Given the description of an element on the screen output the (x, y) to click on. 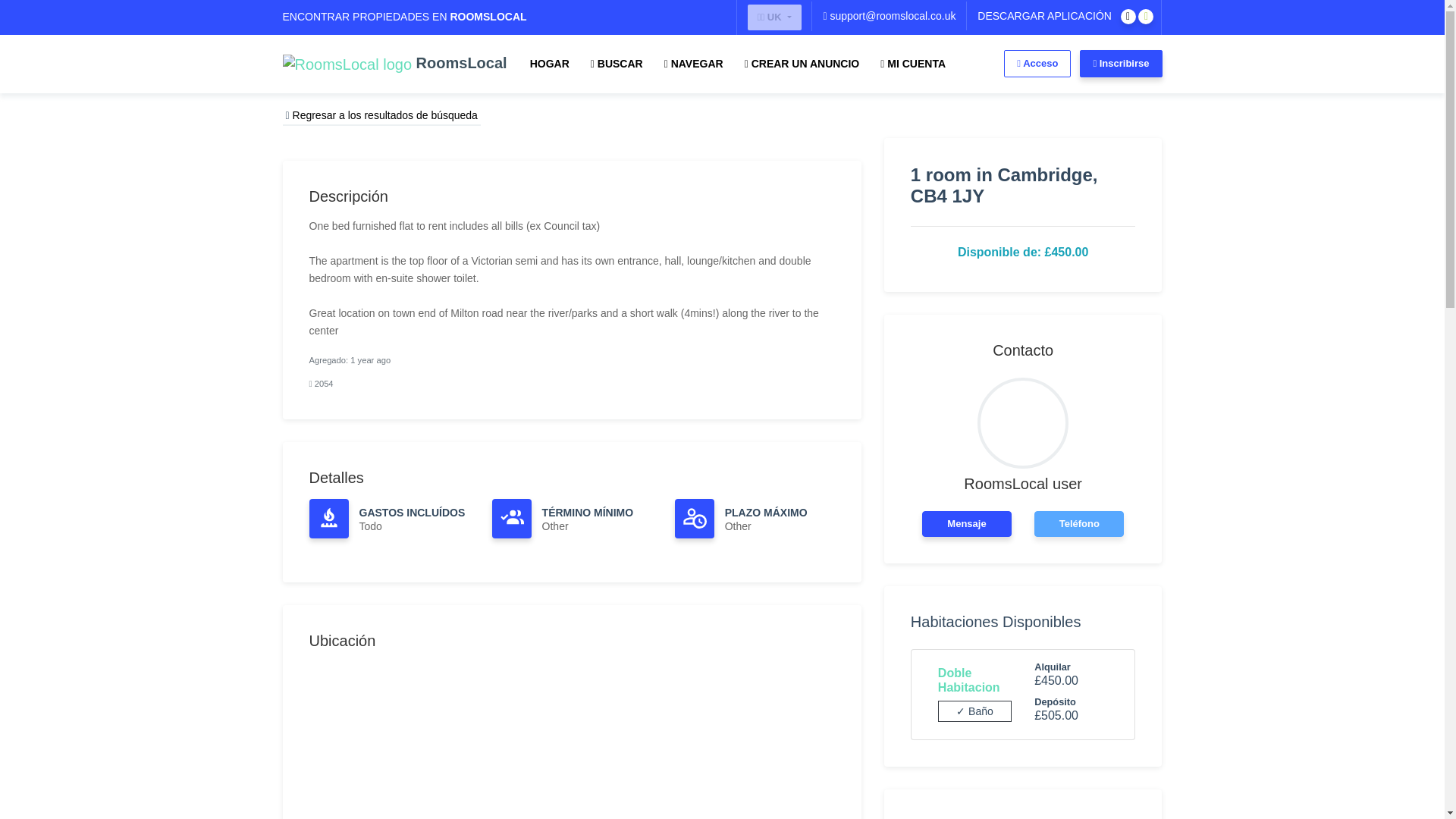
MI CUENTA (912, 64)
Acceso (1037, 62)
Inscribirse (1120, 62)
gas-burner (328, 517)
account-multiple-check (511, 517)
HOGAR (549, 63)
RoomsLocal (394, 63)
account-clock-outline (694, 515)
CREAR UN ANUNCIO (801, 64)
Mensaje (966, 524)
